Given the description of an element on the screen output the (x, y) to click on. 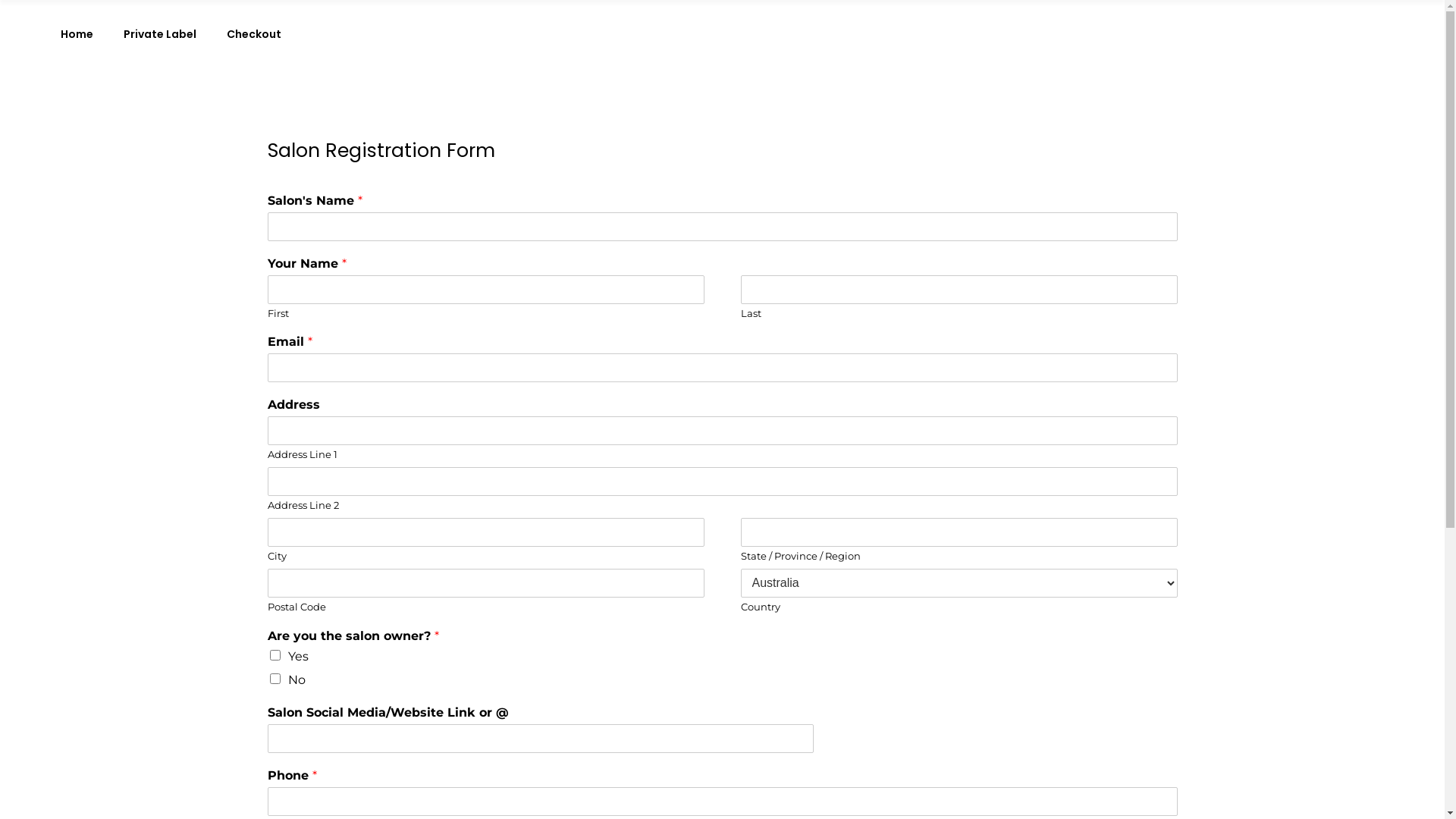
Home Element type: text (76, 34)
Checkout Element type: text (253, 34)
Private Label Element type: text (159, 34)
